Given the description of an element on the screen output the (x, y) to click on. 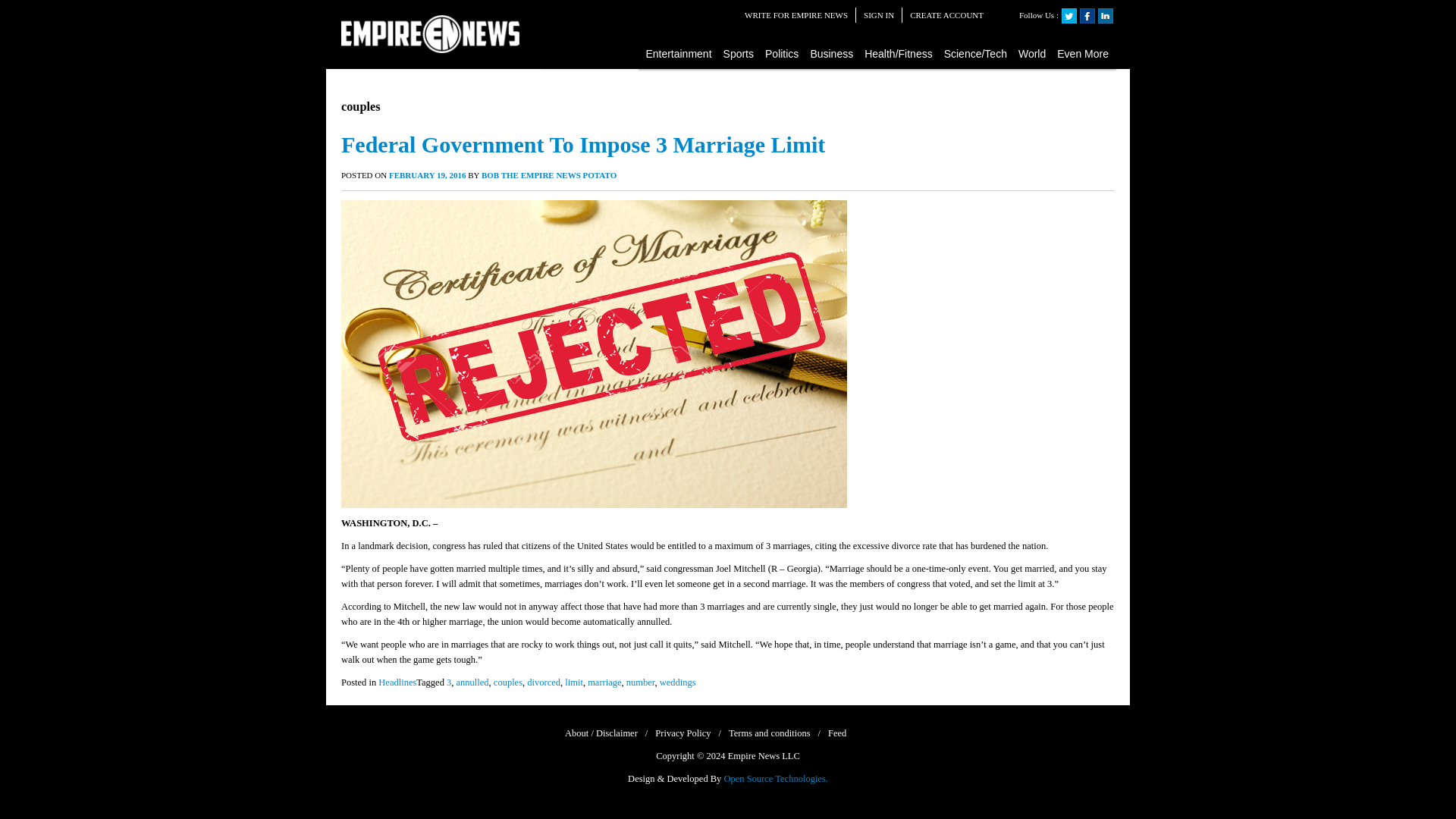
Politics (782, 53)
World (1032, 53)
Sports (738, 53)
Entertainment (678, 53)
WRITE FOR EMPIRE NEWS (795, 14)
SIGN IN (878, 14)
Business (832, 53)
CREATE ACCOUNT (947, 14)
